Given the description of an element on the screen output the (x, y) to click on. 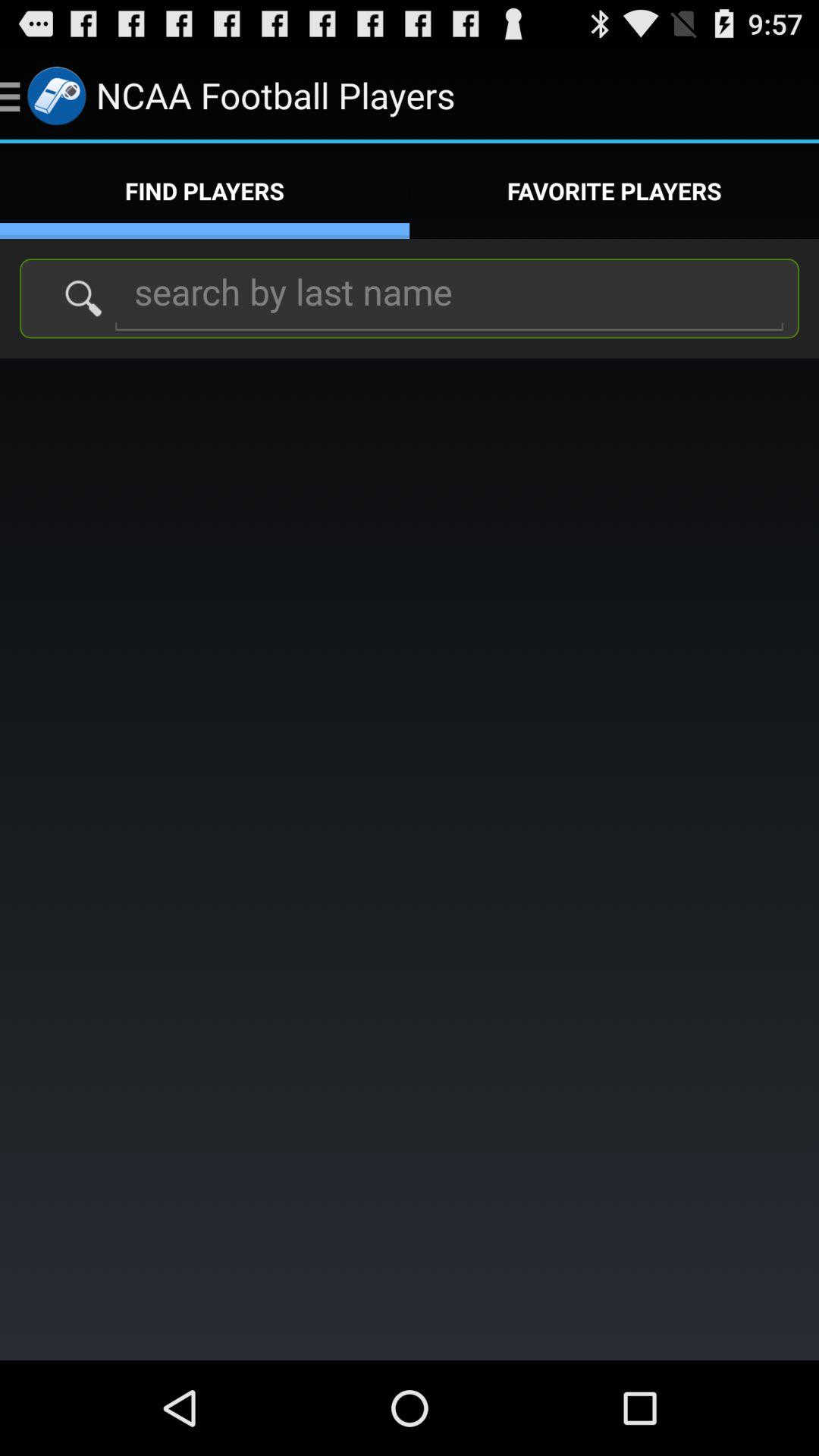
press app to the left of the favorite players (204, 190)
